Given the description of an element on the screen output the (x, y) to click on. 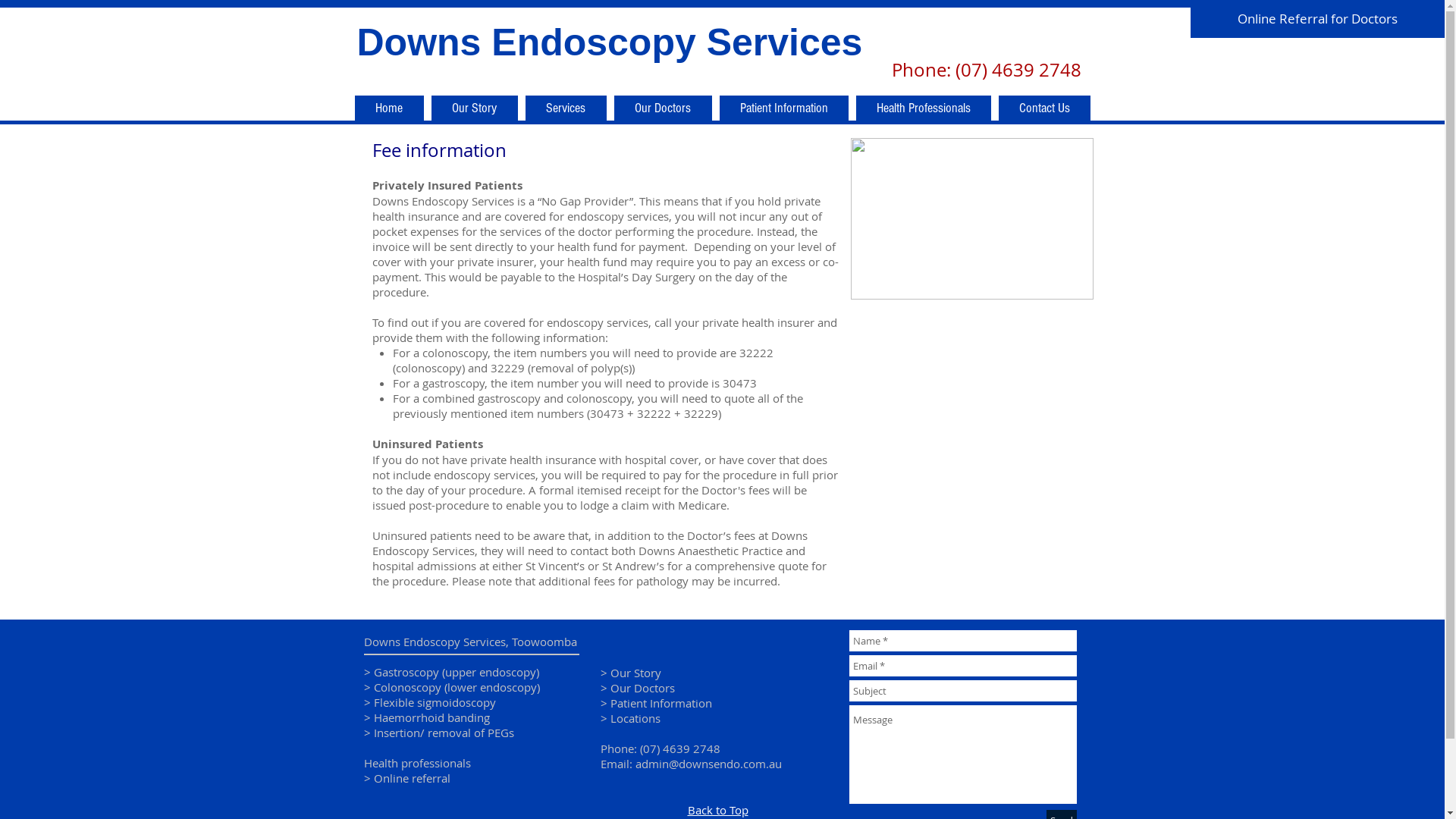
Phone: (07) 4639 2748  Element type: text (988, 69)
Online referral Element type: text (411, 777)
Flexible sigmoidoscopy Element type: text (434, 701)
Insertion/ removal of PEGs Element type: text (443, 732)
Our Doctors Element type: text (641, 687)
Back to Top Element type: text (717, 809)
Locations Element type: text (634, 717)
Contact Us Element type: text (1043, 107)
Downs Endoscopy Services Element type: text (609, 42)
Gastroscopy (upper endoscopy) Element type: text (455, 671)
admin@downsendo.com.au Element type: text (708, 763)
Phone: (07) 4639 2748 Element type: text (660, 748)
Our Story Element type: text (473, 107)
Haemorrhoid banding Element type: text (431, 716)
Online Referral for Doctors Element type: text (1317, 18)
Colonoscopy (lower endoscopy) Element type: text (456, 686)
Our Story Element type: text (634, 672)
Home Element type: text (388, 107)
Patient Information Element type: text (660, 702)
